Given the description of an element on the screen output the (x, y) to click on. 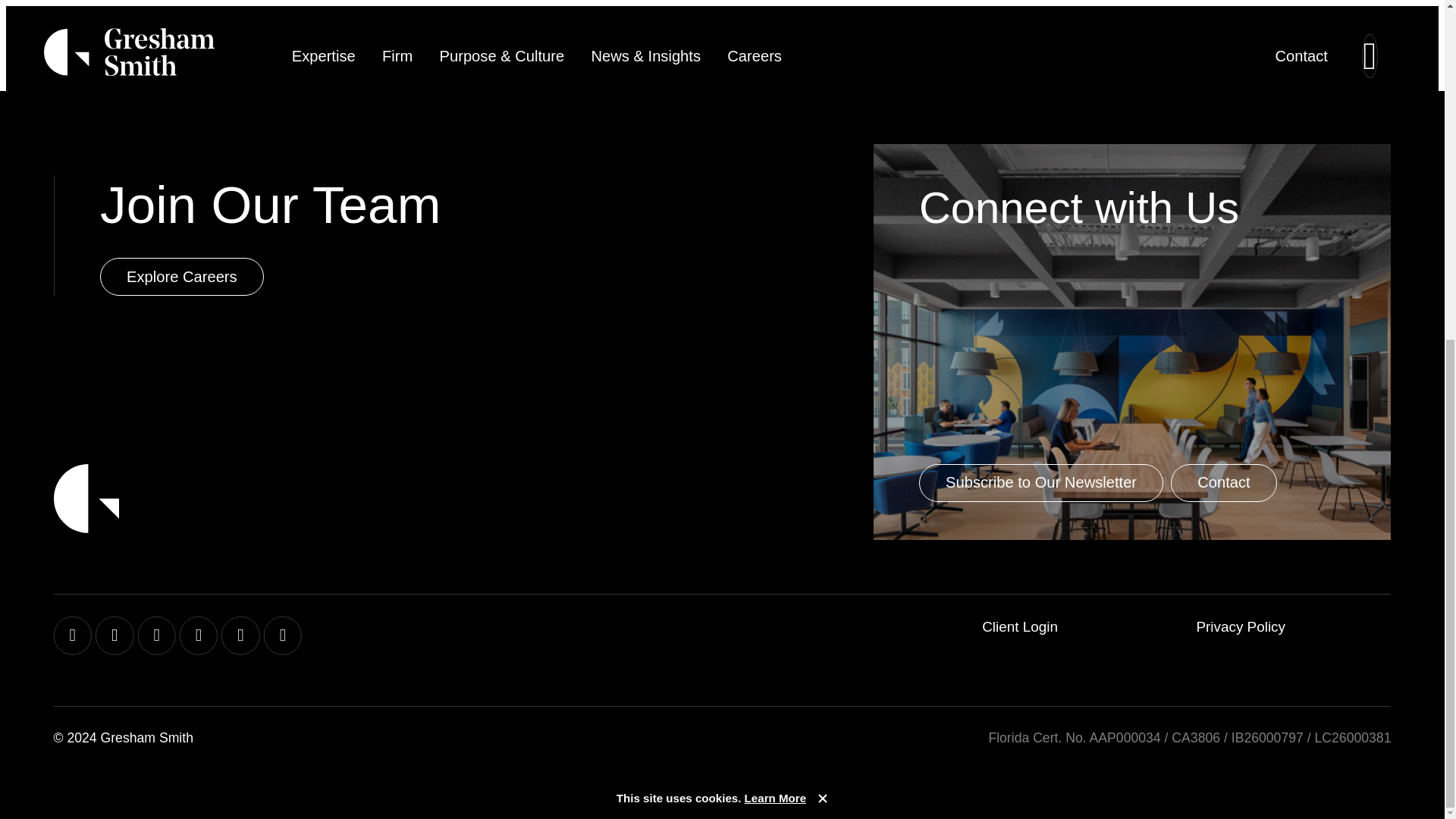
Instagram (114, 635)
LinkedIn (197, 635)
Close (822, 224)
YouTube (282, 635)
Facebook (72, 635)
Twitter (155, 635)
Vimeo (240, 635)
